Given the description of an element on the screen output the (x, y) to click on. 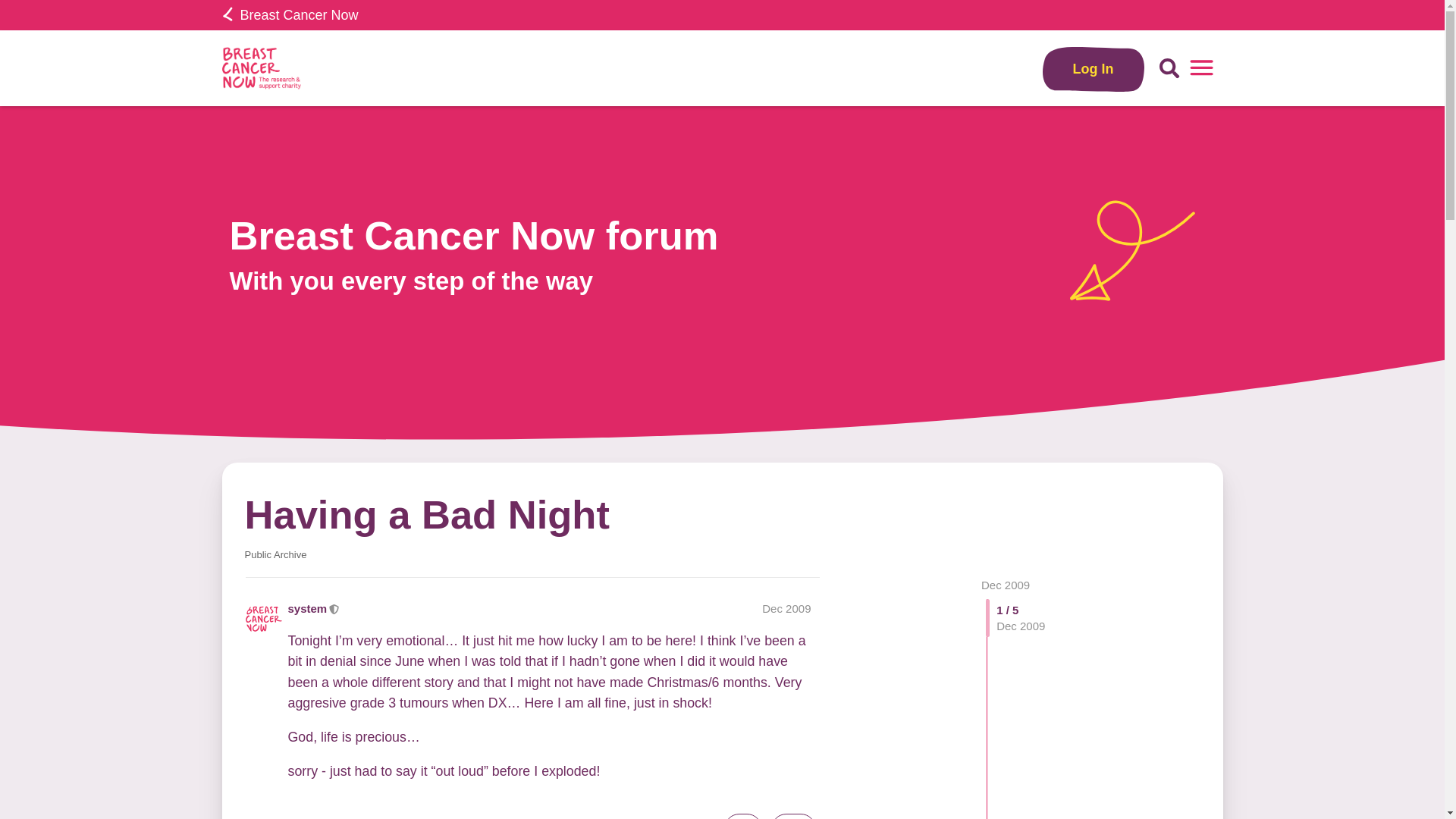
Public Archive (274, 554)
Archived posts which are available to view. (274, 554)
copy a link to this post to clipboard (793, 816)
Having a Bad Night (426, 514)
This user is a moderator (334, 608)
menu (1201, 67)
Dec 2009 (1005, 584)
like this post (742, 816)
Breast Cancer Now (289, 15)
Search (1169, 68)
